Given the description of an element on the screen output the (x, y) to click on. 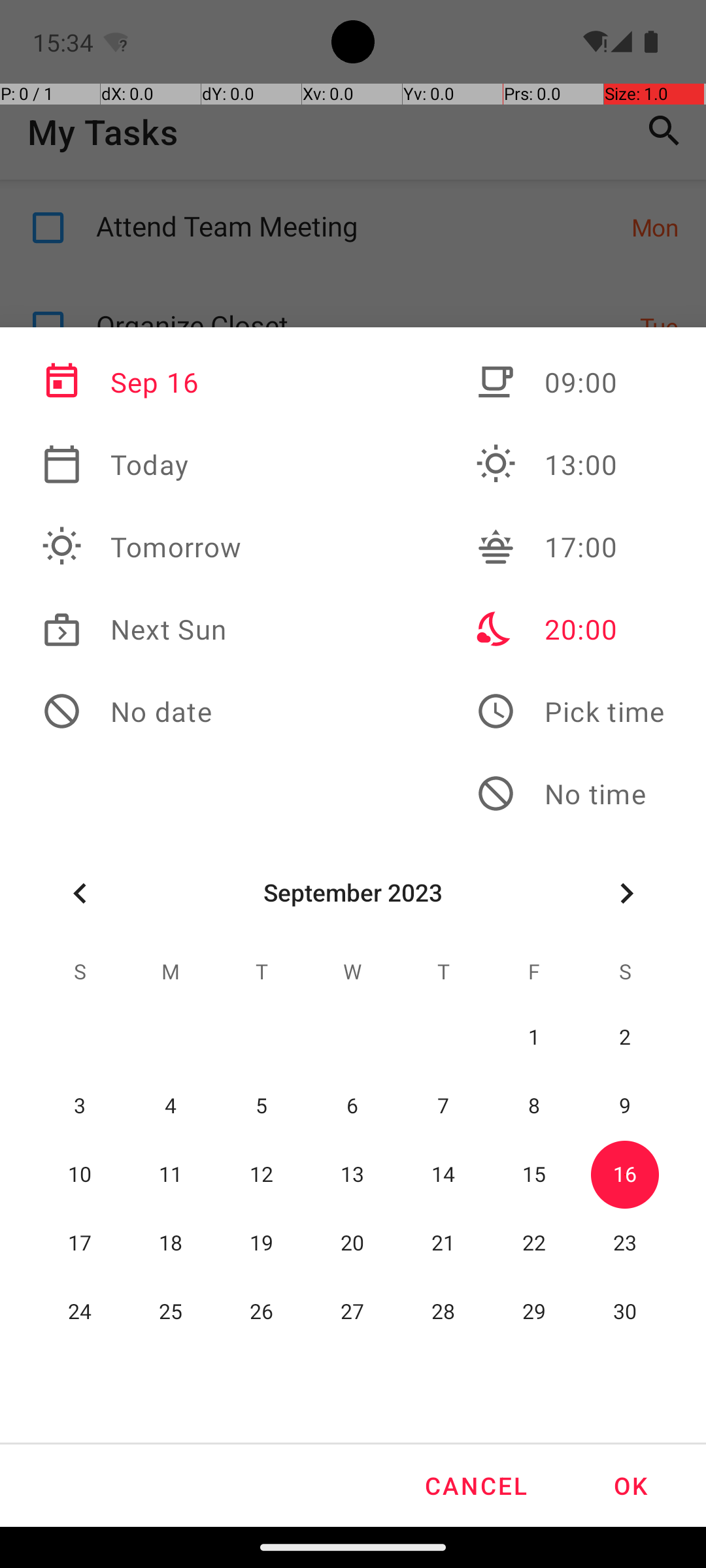
Sep 16 Element type: android.widget.CompoundButton (141, 382)
